Given the description of an element on the screen output the (x, y) to click on. 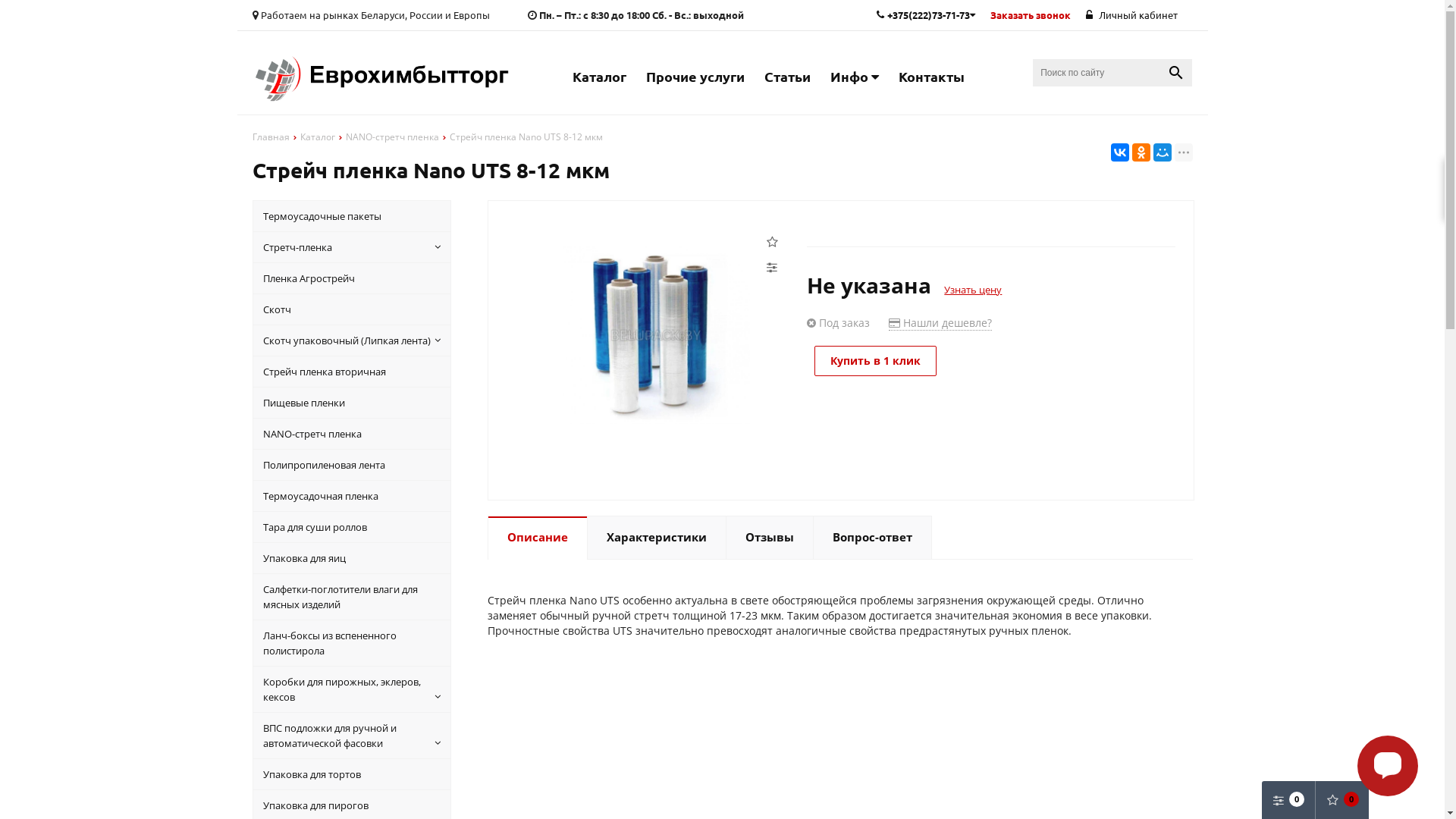
+375(222)73-71-73 Element type: text (925, 15)
search Element type: text (1176, 72)
